Given the description of an element on the screen output the (x, y) to click on. 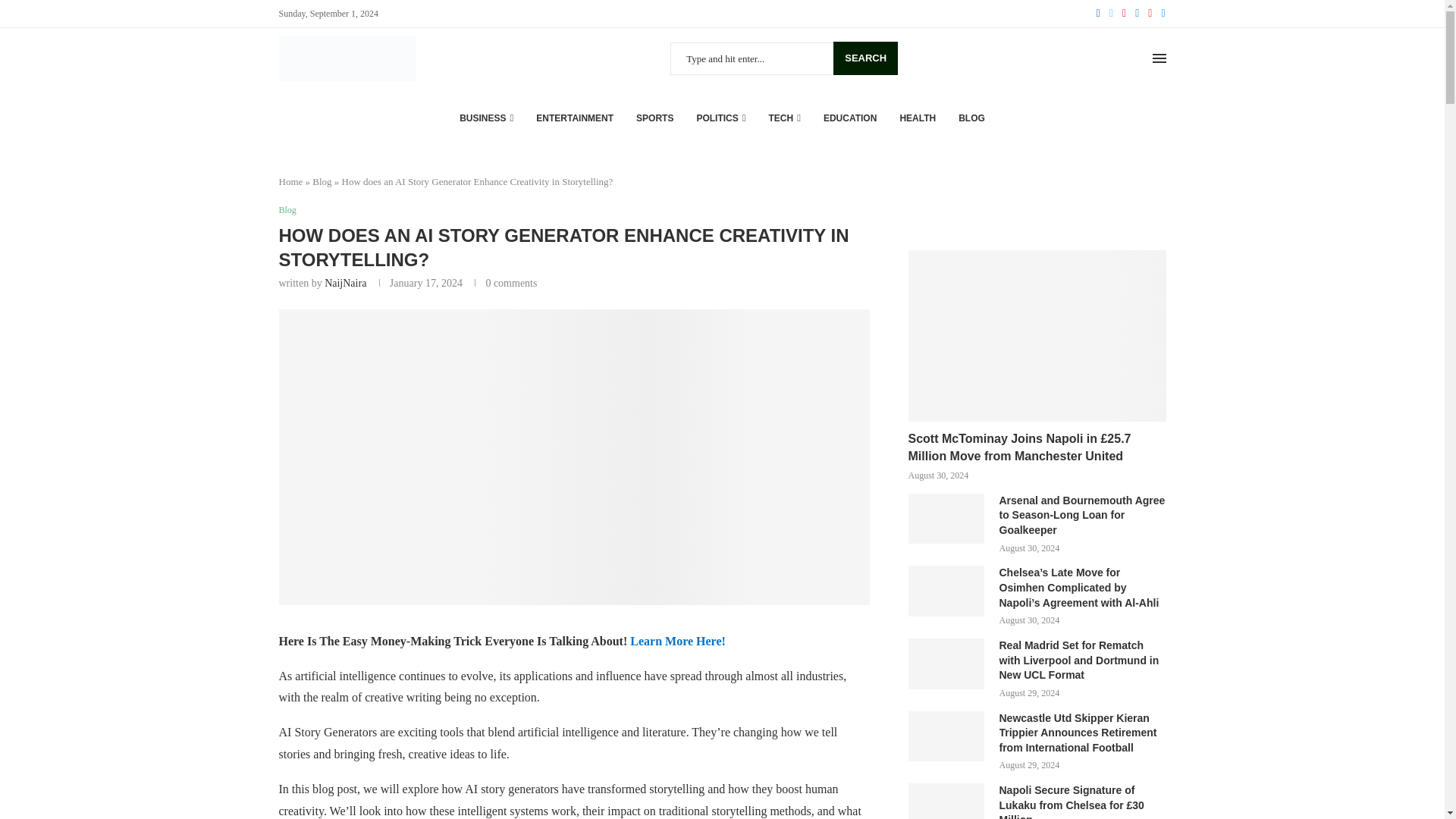
SEARCH (865, 57)
EDUCATION (850, 118)
ENTERTAINMENT (573, 118)
POLITICS (720, 118)
BUSINESS (486, 118)
